Given the description of an element on the screen output the (x, y) to click on. 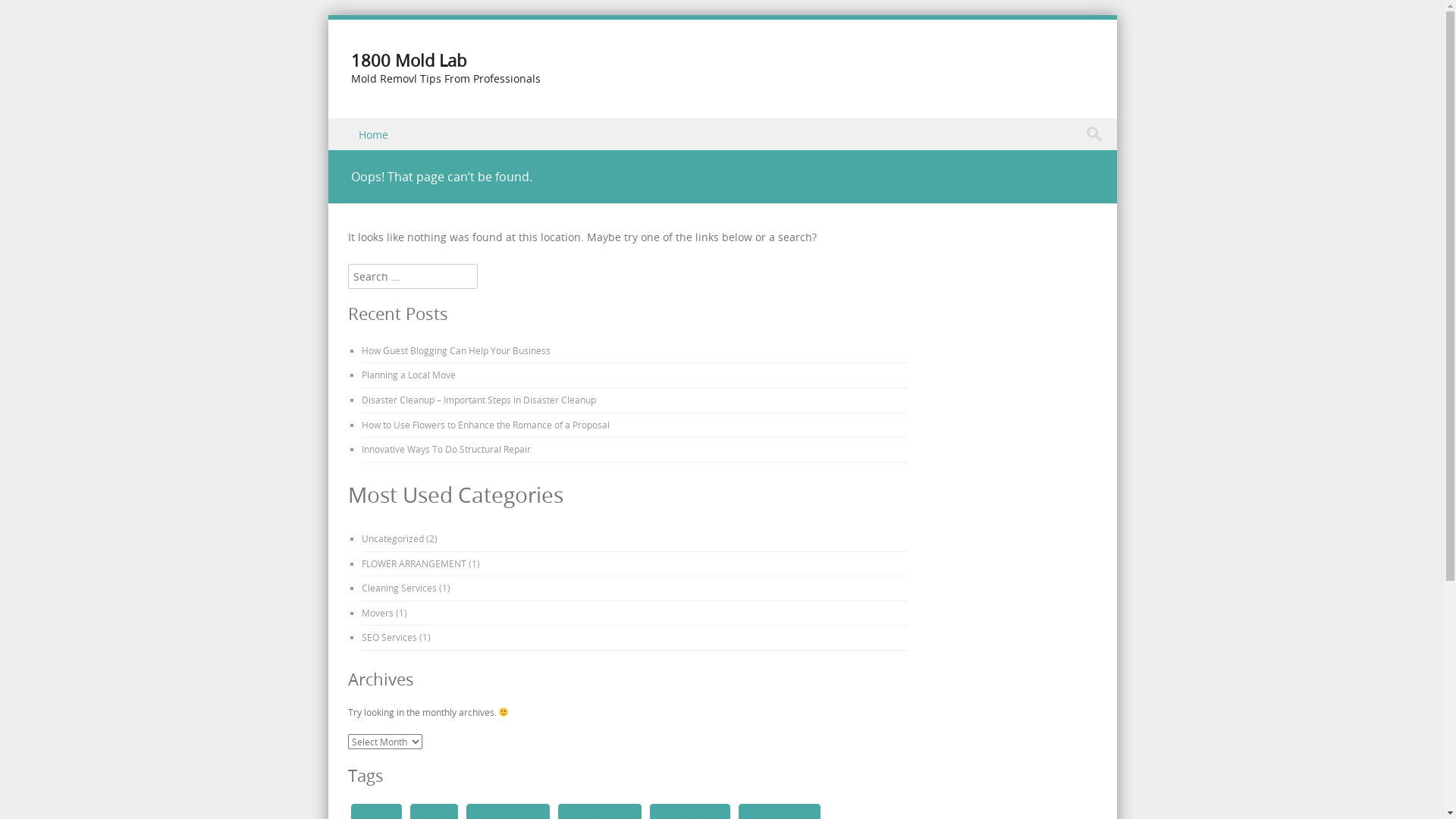
Cleaning Services Element type: text (398, 587)
Search Element type: text (26, 14)
Search for: Element type: hover (1097, 133)
Planning a Local Move Element type: text (407, 374)
Innovative Ways To Do Structural Repair Element type: text (445, 448)
FLOWER ARRANGEMENT Element type: text (412, 562)
How to Use Flowers to Enhance the Romance of a Proposal Element type: text (484, 424)
1800 Mold Lab Element type: text (407, 60)
Uncategorized Element type: text (391, 538)
How Guest Blogging Can Help Your Business Element type: text (454, 350)
Menu Element type: text (355, 151)
SEO Services Element type: text (388, 636)
Movers Element type: text (376, 612)
Home Element type: text (373, 134)
Skip to content Element type: text (365, 127)
